Given the description of an element on the screen output the (x, y) to click on. 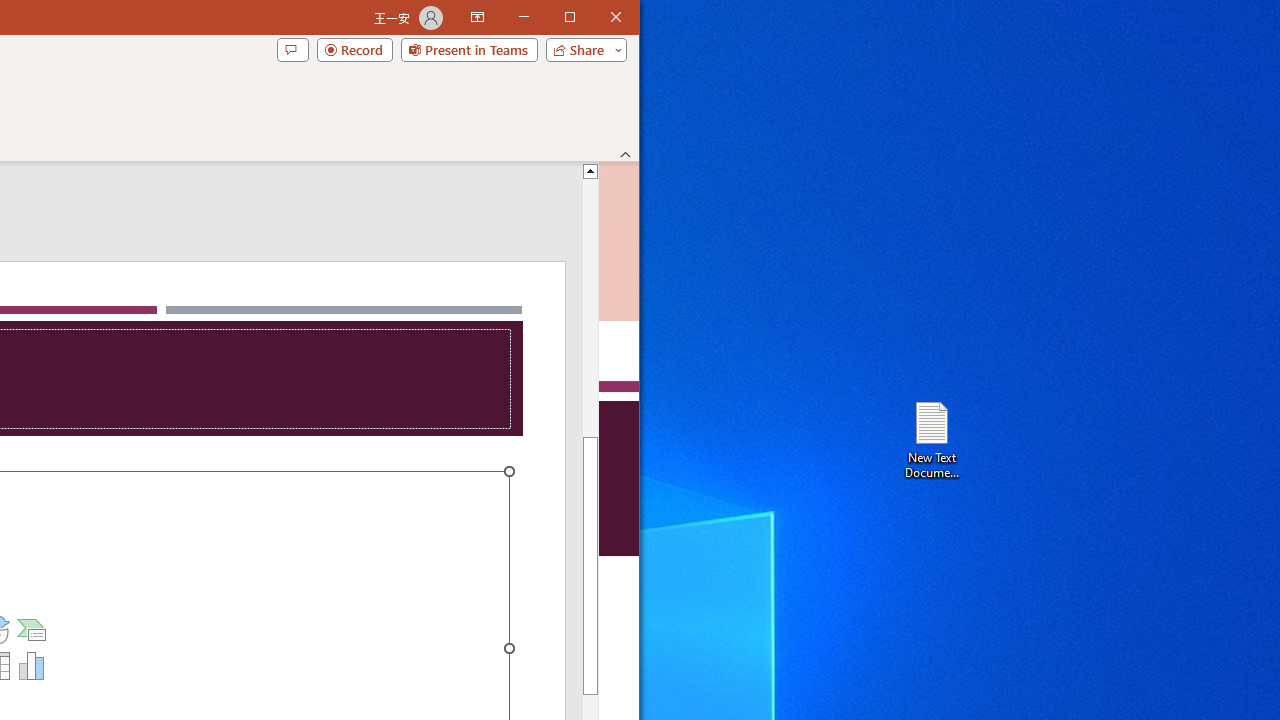
Insert a SmartArt Graphic (31, 629)
Insert Chart (31, 665)
Maximize (598, 18)
